Given the description of an element on the screen output the (x, y) to click on. 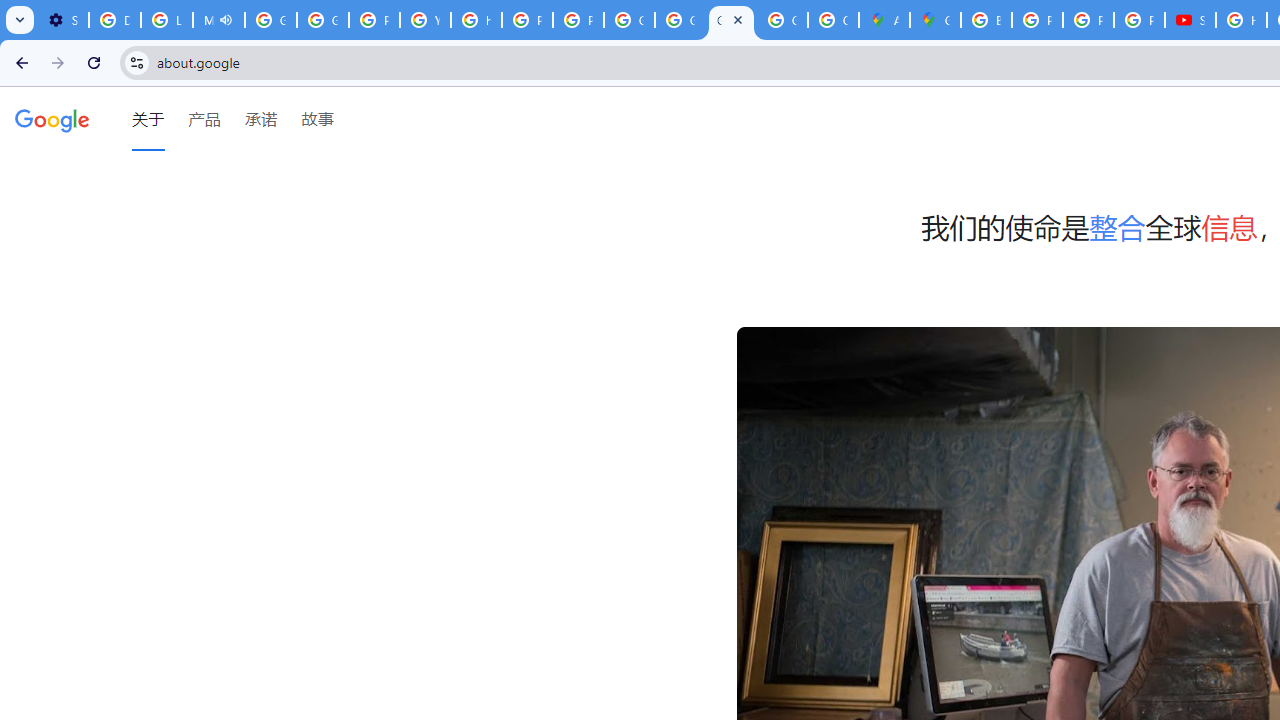
How Chrome protects your passwords - Google Chrome Help (1241, 20)
Google Maps (935, 20)
Privacy Help Center - Policies Help (1037, 20)
https://scholar.google.com/ (475, 20)
